Given the description of an element on the screen output the (x, y) to click on. 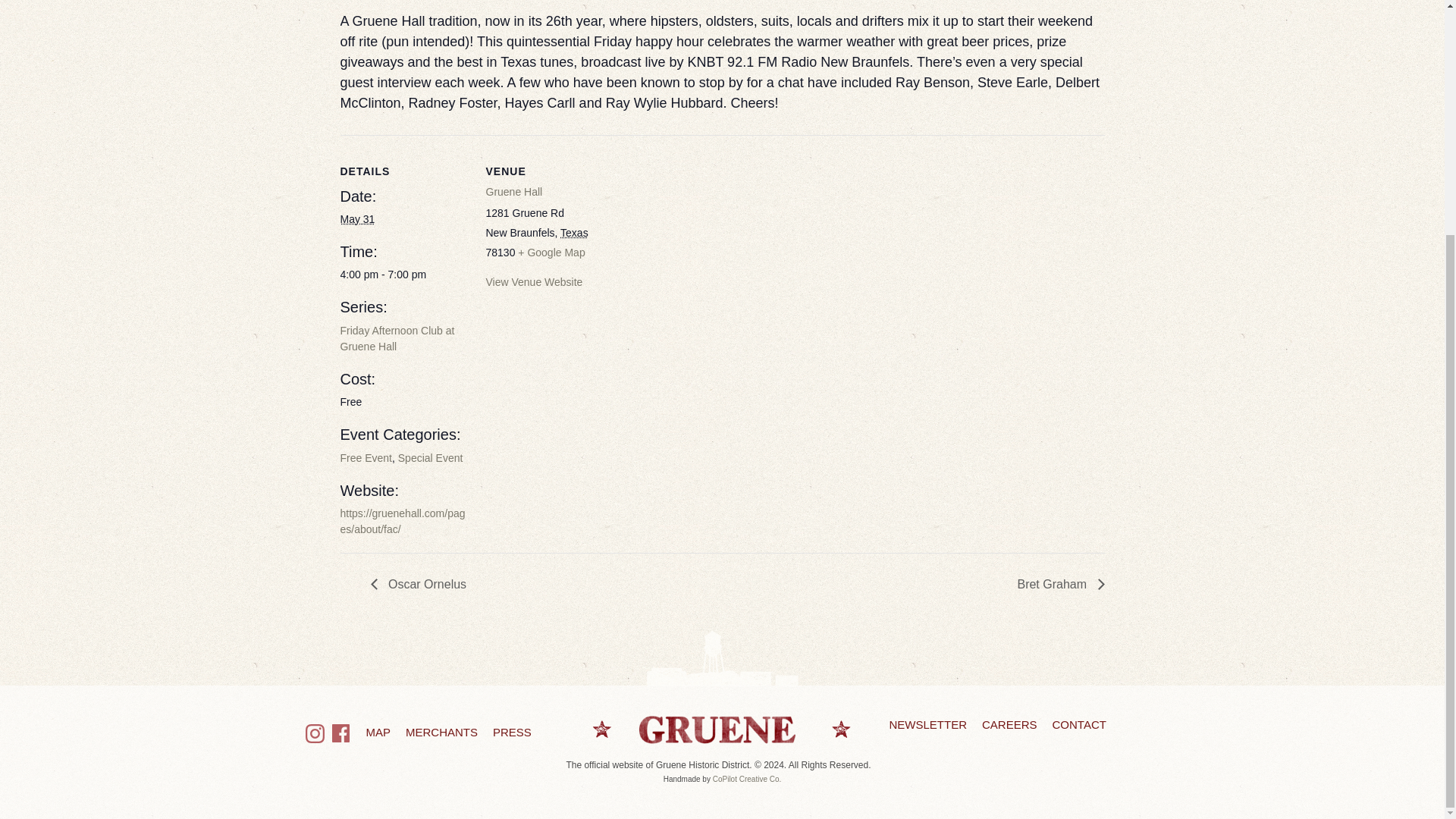
2024-05-31 (356, 218)
View Venue Website (533, 282)
CAREERS (1008, 724)
Oscar Ornelus (421, 584)
CoPilot Creative Co. (747, 778)
CONTACT (1079, 724)
Free Event (365, 458)
MAP (377, 731)
Gruene Hall (512, 191)
Texas (574, 232)
Special Event (430, 458)
Bret Graham (1056, 584)
Friday Afternoon Club at Gruene Hall (396, 338)
Friday Afternoon Club at Gruene Hall (396, 338)
MERCHANTS (441, 731)
